Given the description of an element on the screen output the (x, y) to click on. 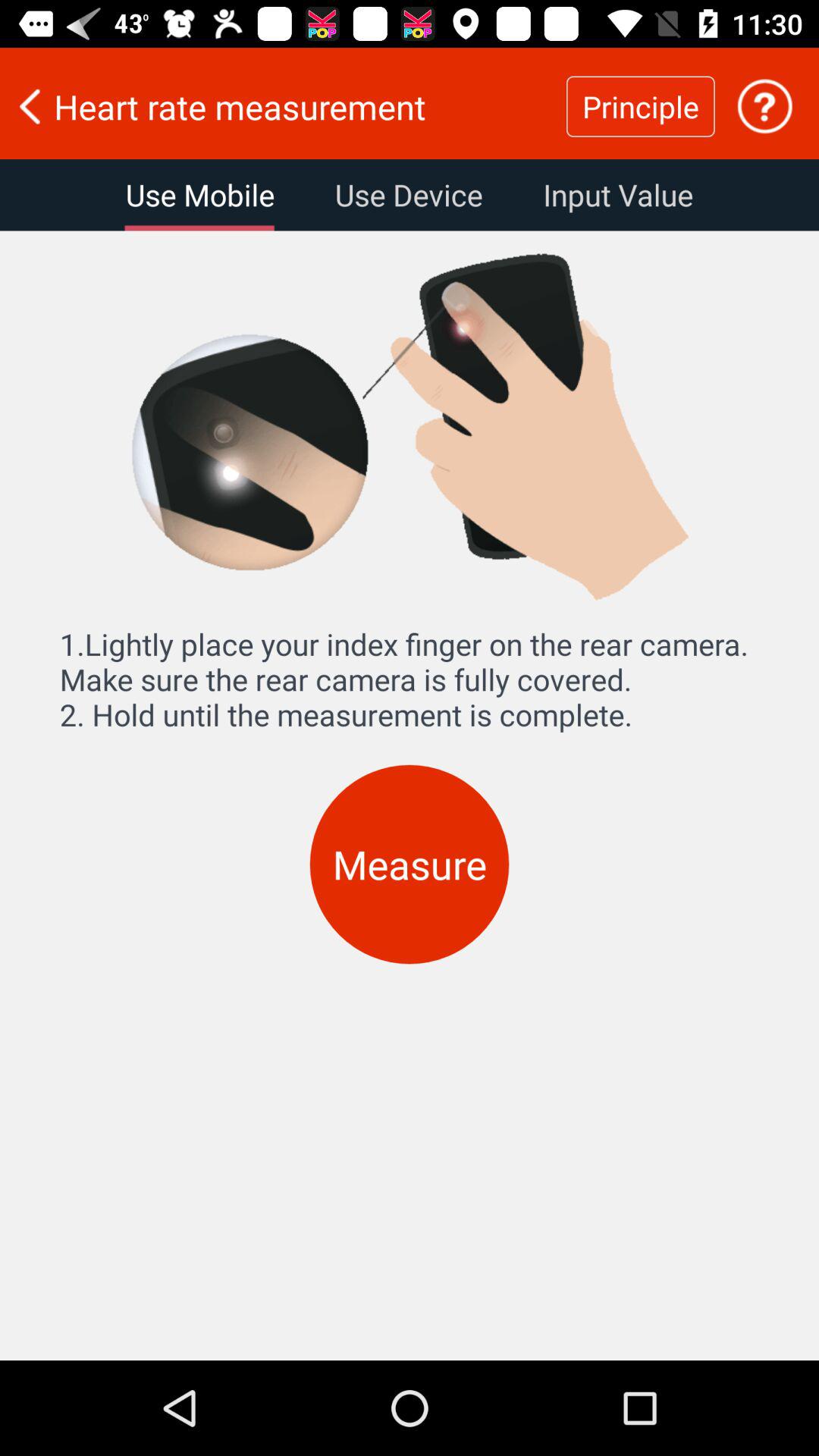
turn off the item below the heart rate measurement item (618, 194)
